Given the description of an element on the screen output the (x, y) to click on. 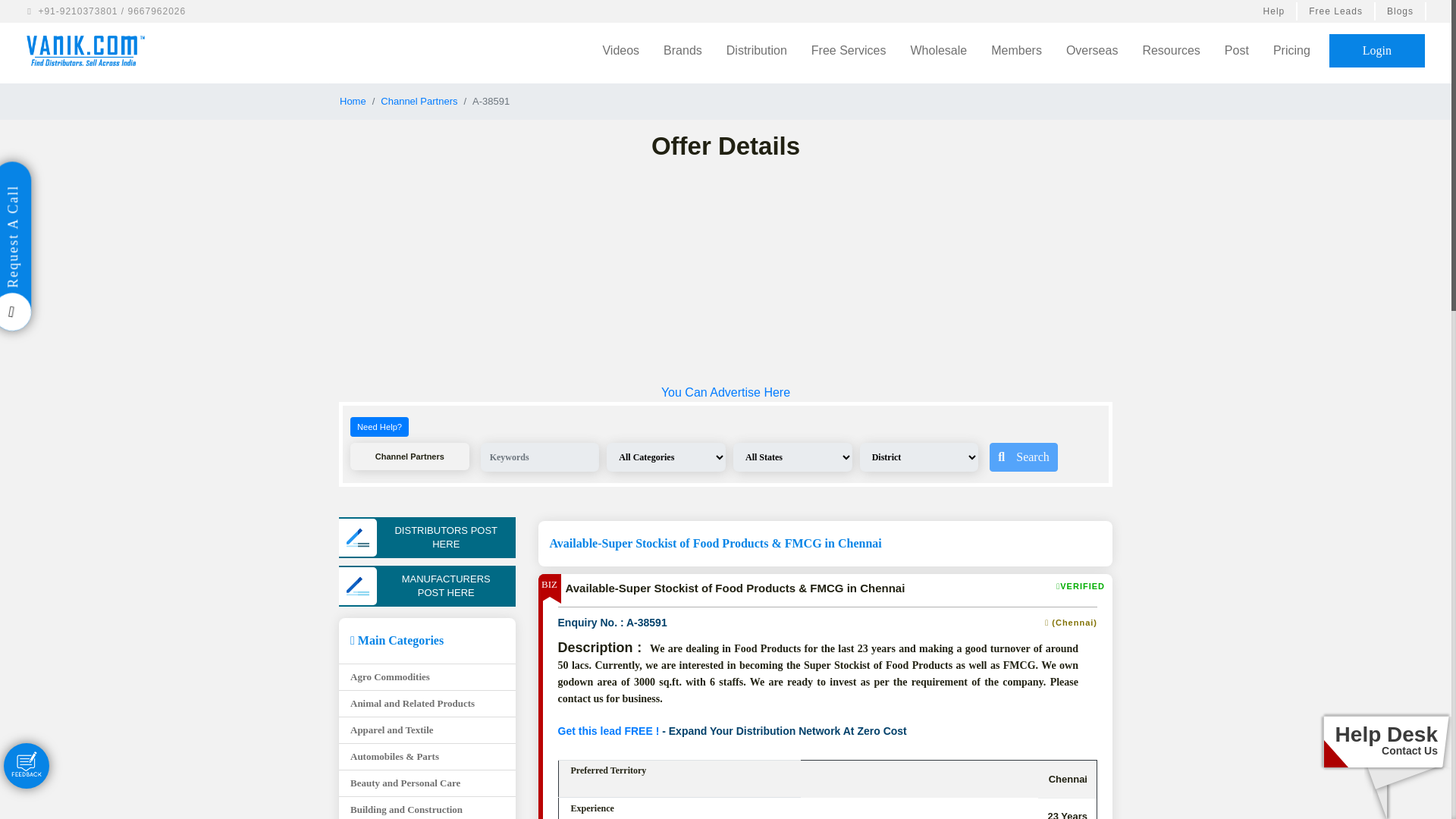
Help (1275, 11)
Blogs (1400, 11)
Distribution (756, 50)
Wholesale (939, 50)
Members (1016, 50)
Free Services (848, 50)
Videos (620, 50)
Brands (682, 50)
Free Leads (1336, 11)
